Given the description of an element on the screen output the (x, y) to click on. 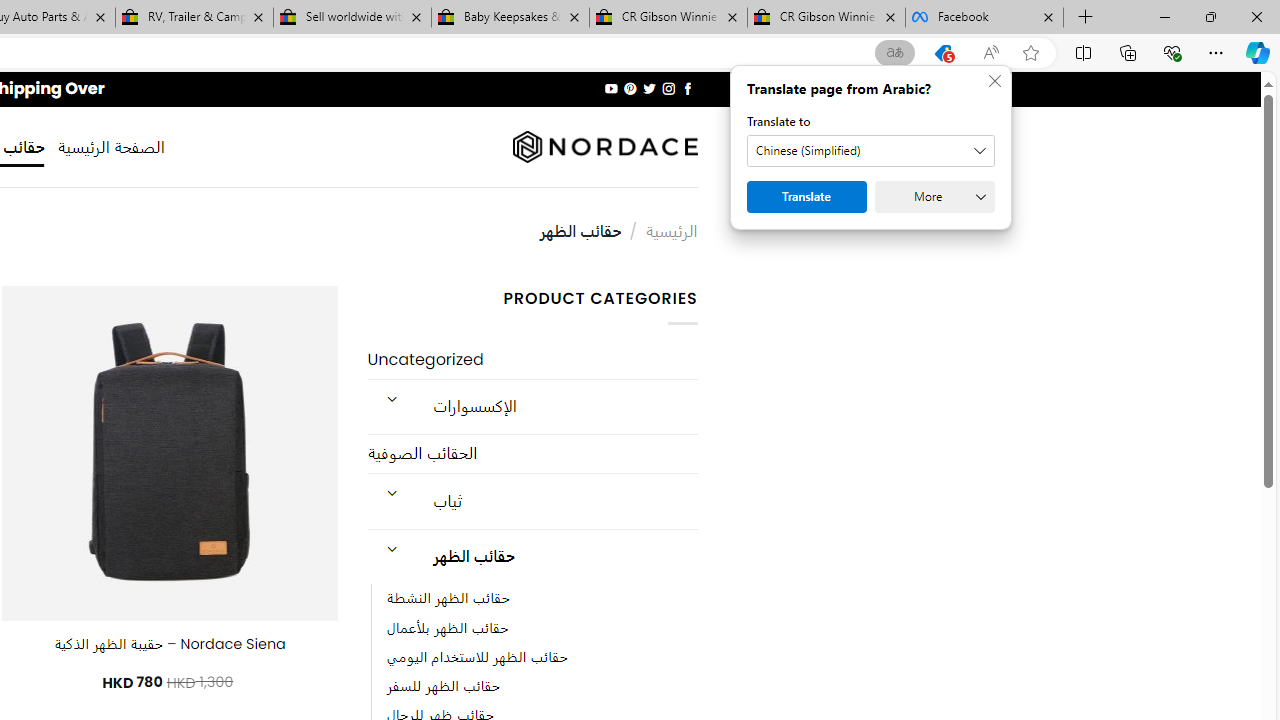
Uncategorized (532, 359)
Follow on YouTube (611, 88)
Translate (806, 196)
